Given the description of an element on the screen output the (x, y) to click on. 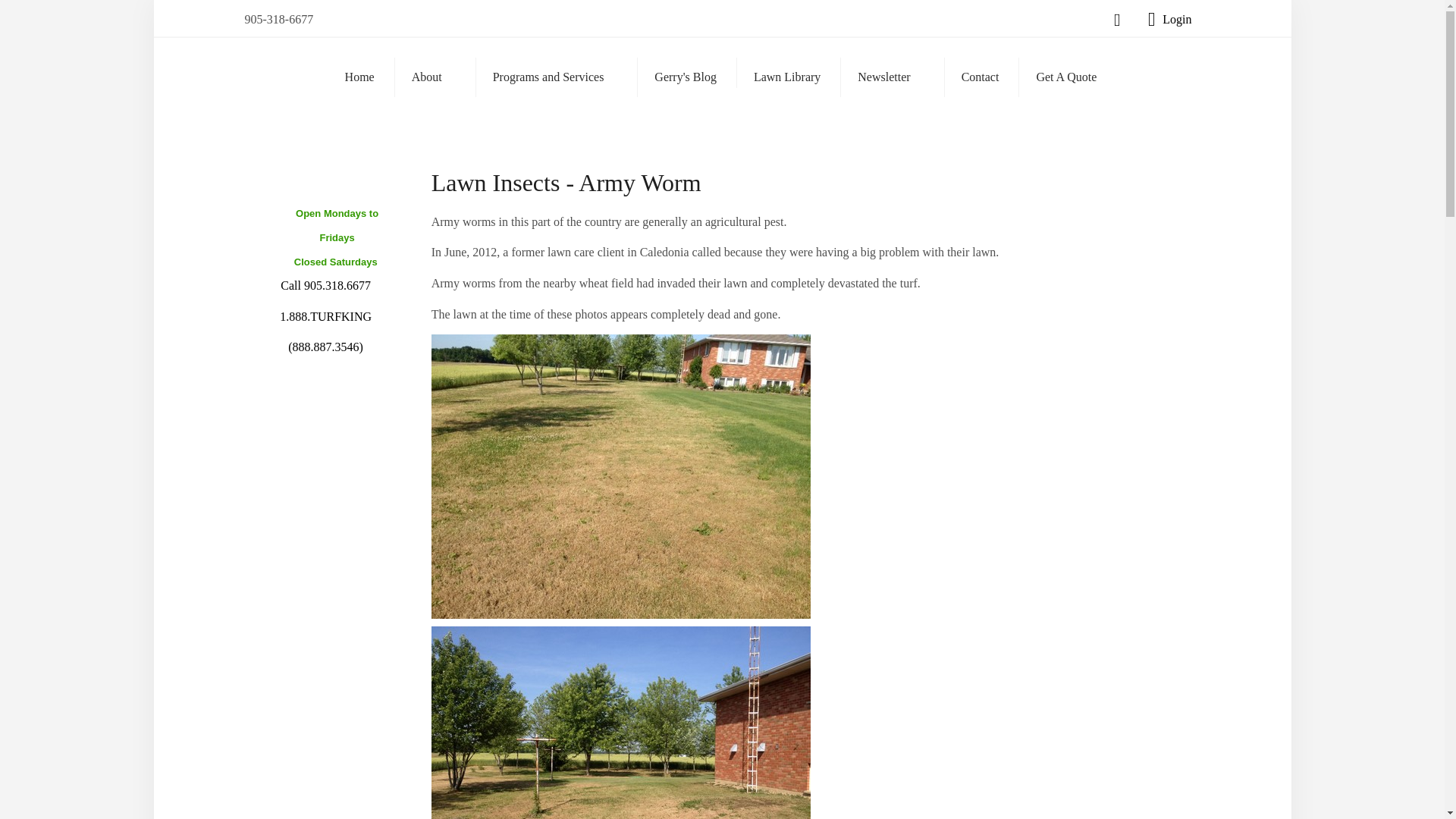
Search (722, 22)
Gerry's Blog (684, 76)
About (433, 76)
Get A Quote (1065, 76)
Army Worm Damage on Lawn (620, 722)
Contact (979, 76)
Home (359, 76)
Programs and Services (555, 76)
Lawn Library (787, 76)
Newsletter (890, 76)
